Given the description of an element on the screen output the (x, y) to click on. 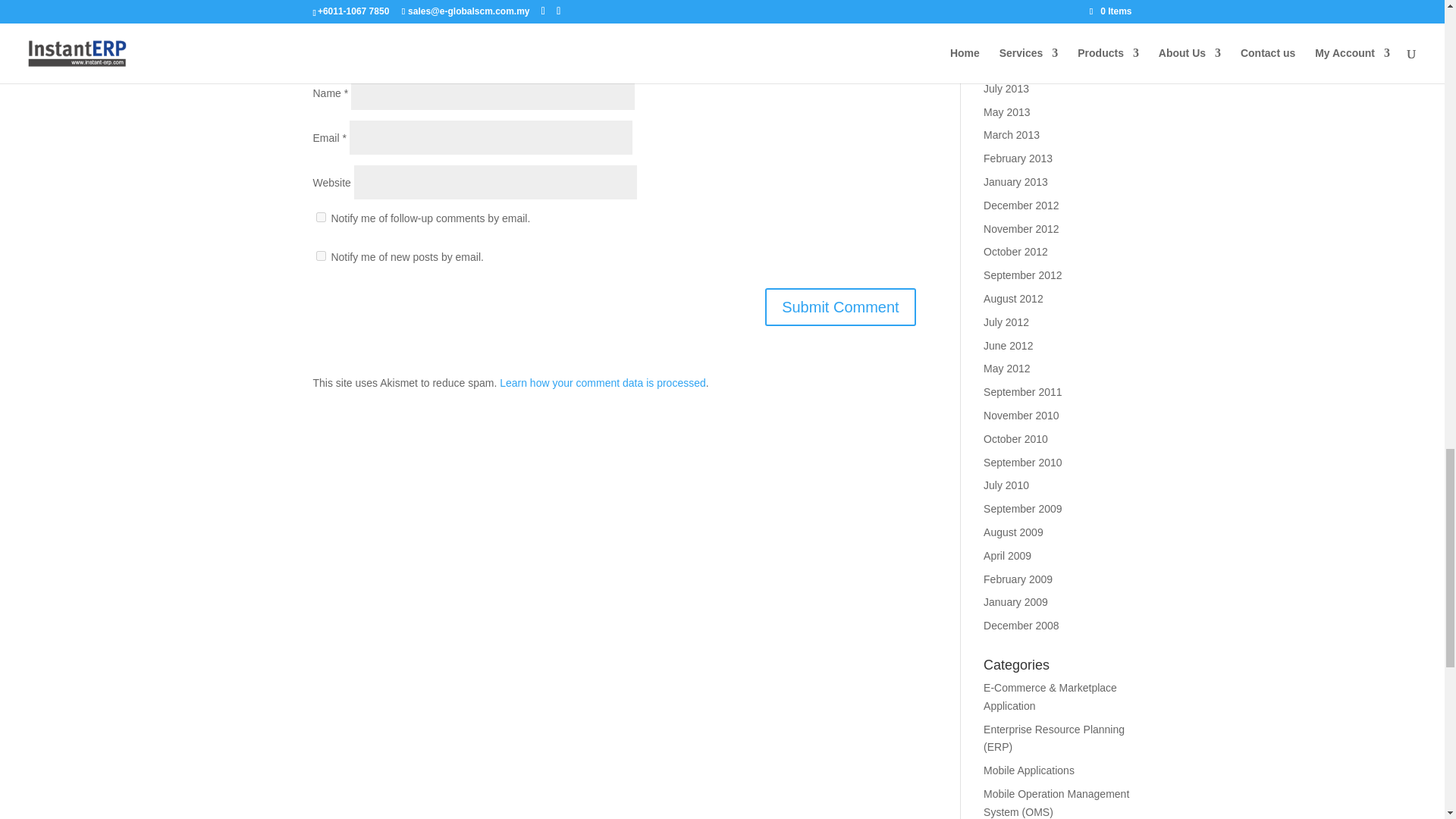
subscribe (319, 216)
subscribe (319, 255)
Submit Comment (840, 306)
